Given the description of an element on the screen output the (x, y) to click on. 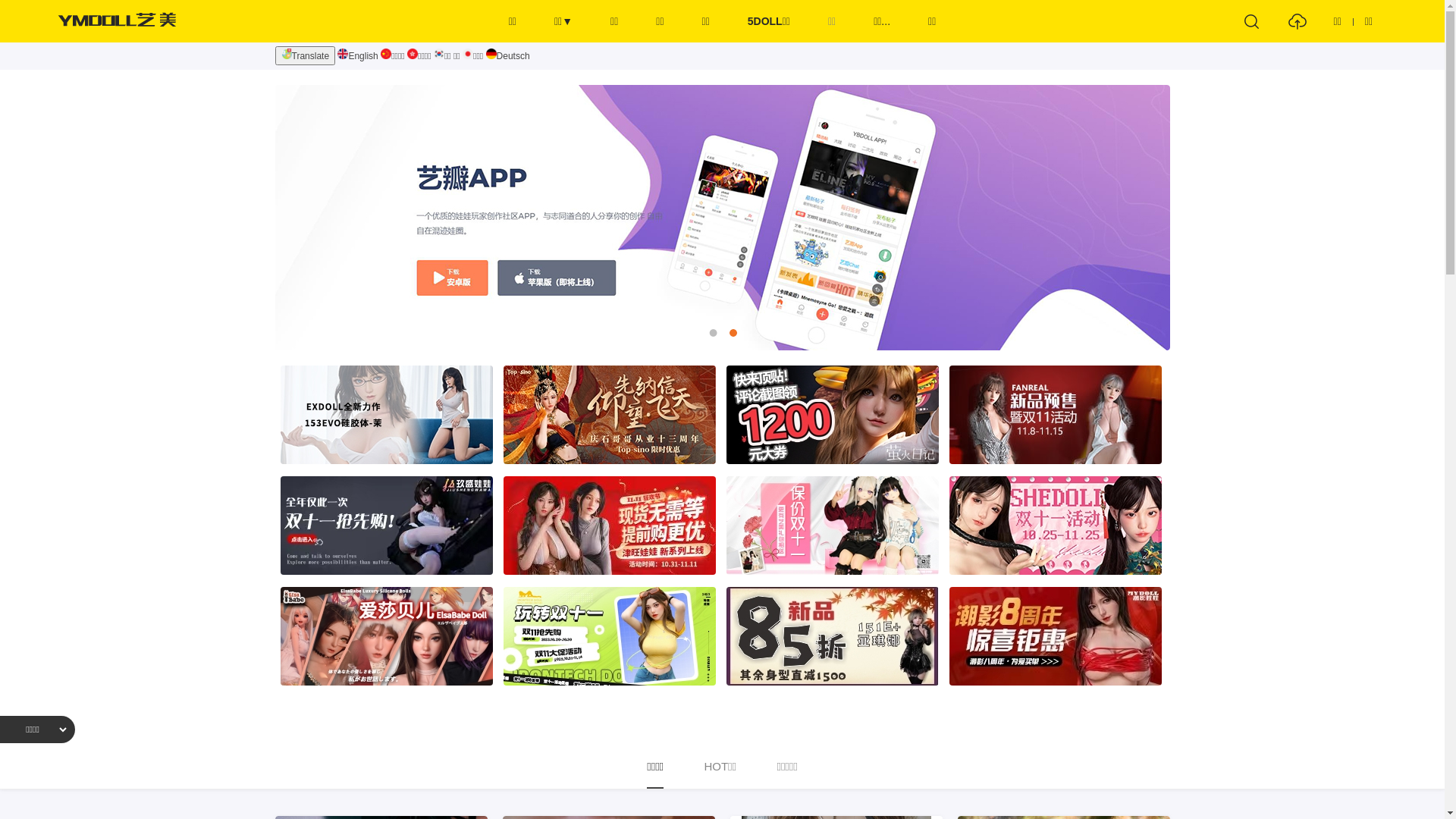
Deutsch Element type: text (508, 55)
Translate Element type: text (304, 55)
English Element type: text (357, 55)
